Given the description of an element on the screen output the (x, y) to click on. 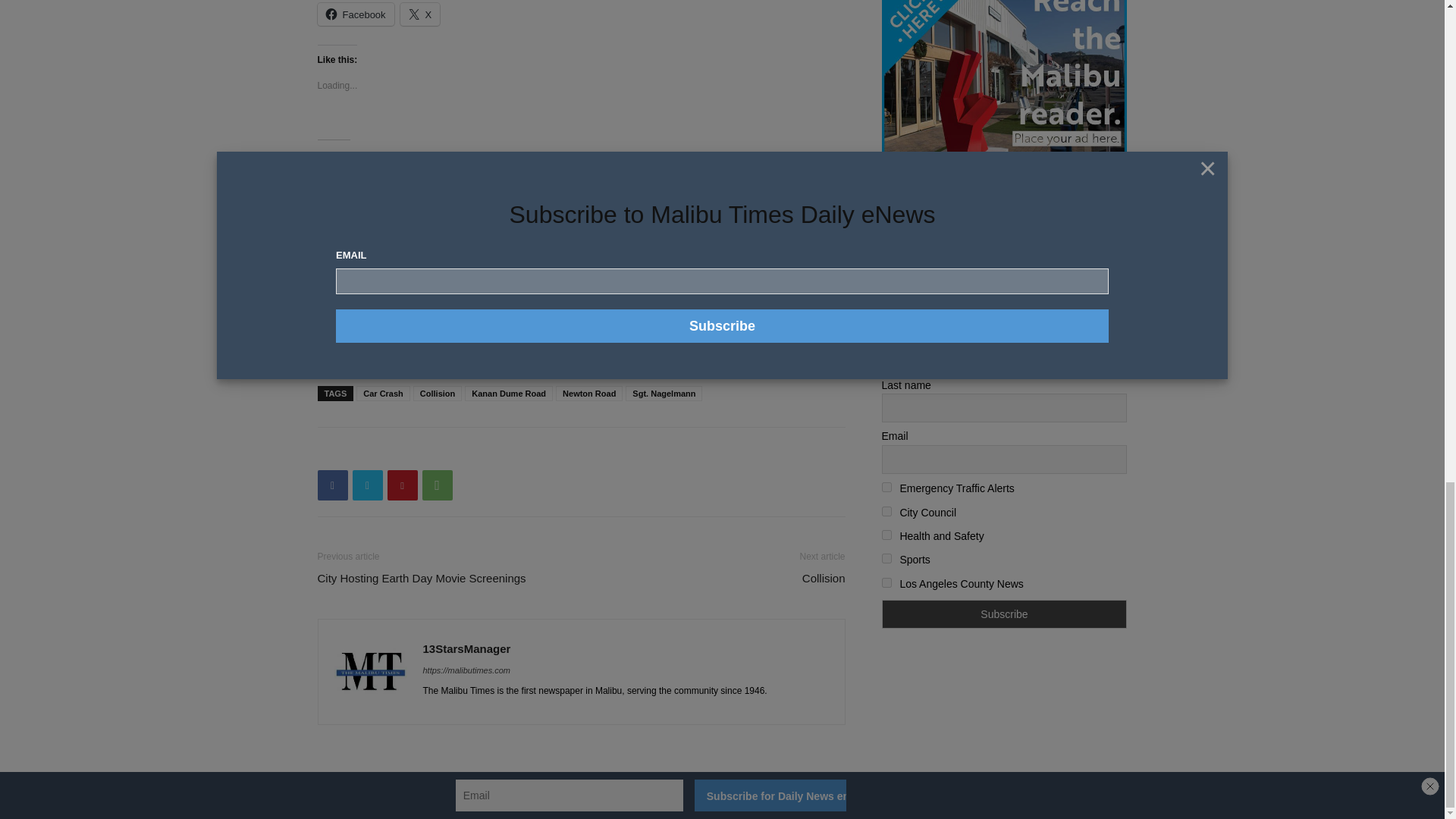
Subscribe (1003, 613)
6 (885, 583)
2 (885, 487)
5 (885, 558)
4 (885, 534)
3 (885, 511)
Click to share on Facebook (355, 14)
